Given the description of an element on the screen output the (x, y) to click on. 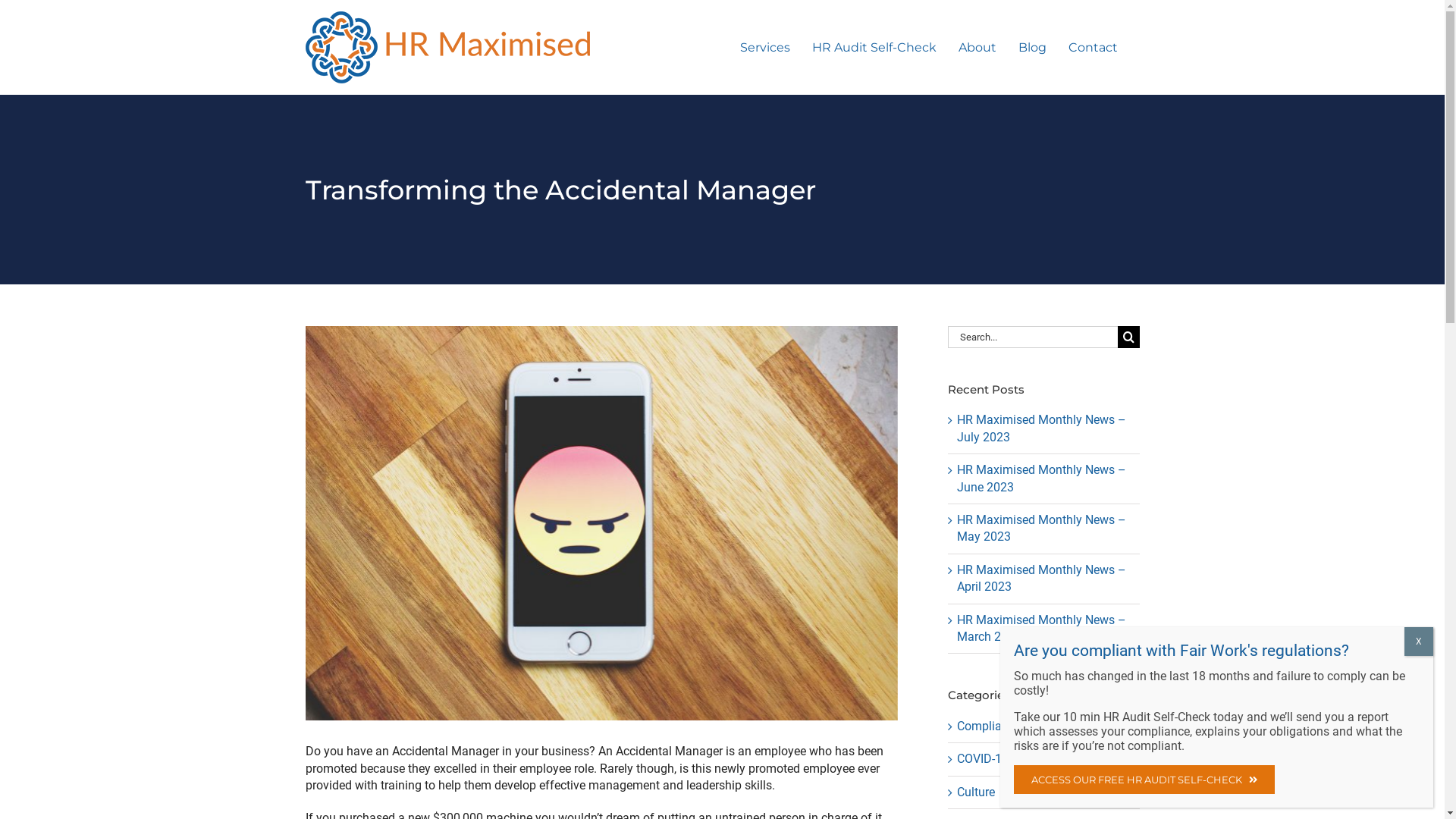
HR Audit Self-Check Element type: text (873, 47)
Blog Element type: text (1031, 47)
Services Element type: text (765, 47)
View Larger Image Element type: text (600, 523)
ACCESS OUR FREE HR AUDIT SELF-CHECK Element type: text (1143, 779)
COVID-19 Element type: text (1044, 758)
X Element type: text (1418, 640)
Compliance Element type: text (1044, 726)
Culture Element type: text (1044, 792)
Contact Element type: text (1092, 47)
About Element type: text (977, 47)
